Given the description of an element on the screen output the (x, y) to click on. 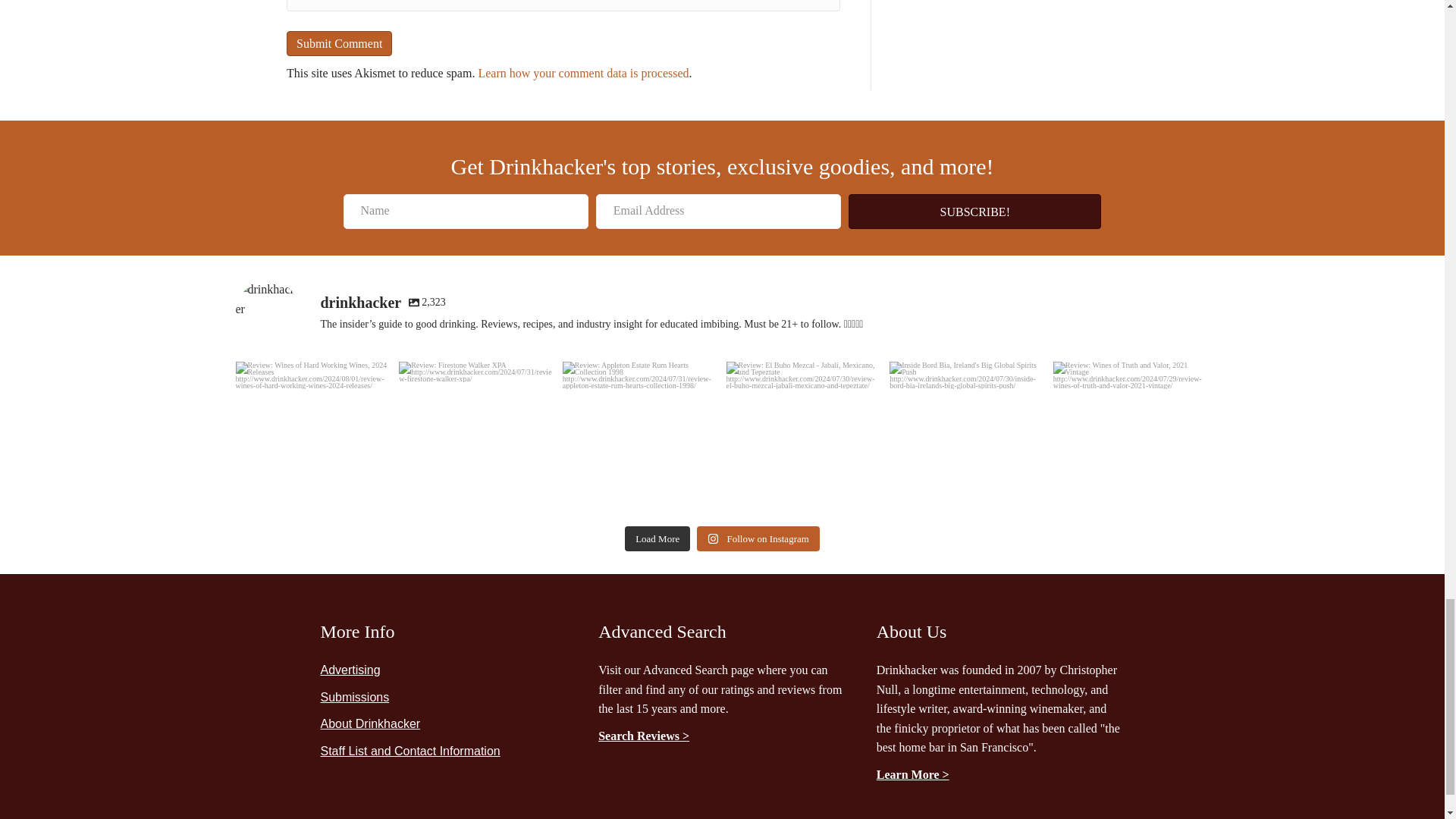
Submit Comment (338, 43)
